Given the description of an element on the screen output the (x, y) to click on. 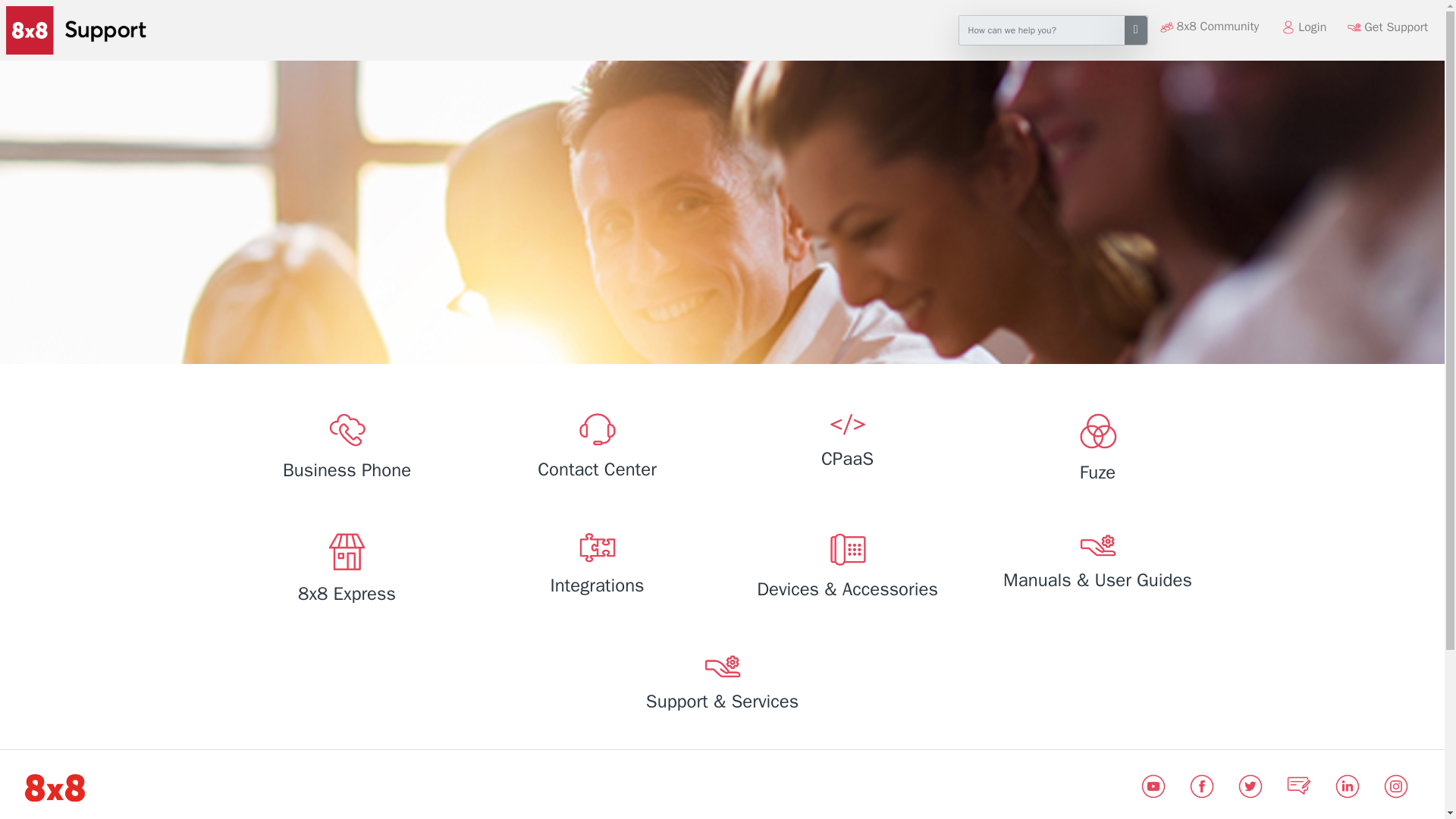
8x8 Express (346, 571)
Login (1303, 26)
Integrations (596, 567)
Get Support (1387, 26)
Searchbar (1041, 30)
8x8 Community (1217, 26)
8x8 Community (1217, 26)
CPaaS (846, 444)
Business Phone (346, 449)
Get Support (1396, 27)
